Given the description of an element on the screen output the (x, y) to click on. 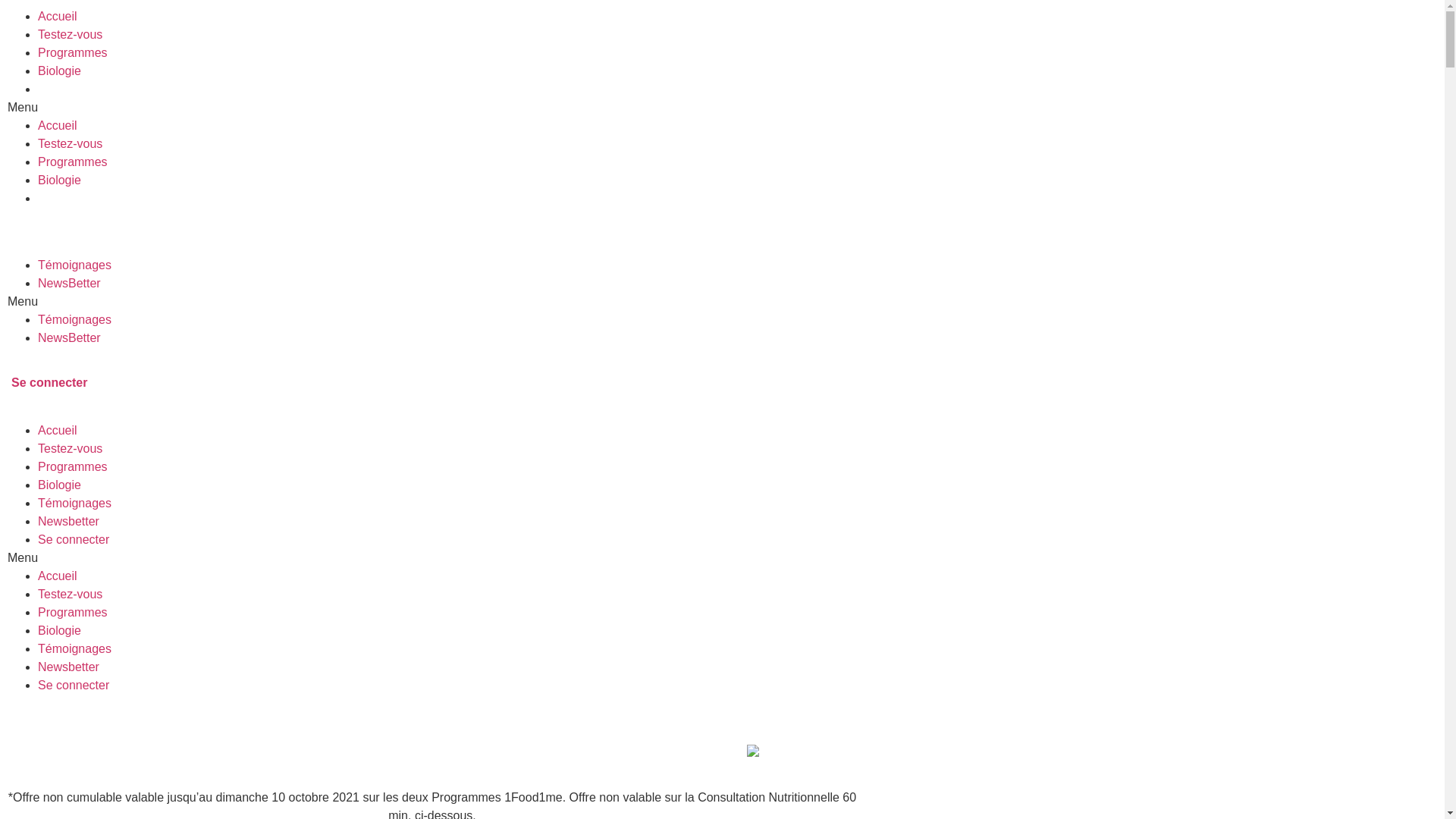
Newsbetter Element type: text (68, 520)
Accueil Element type: text (57, 125)
Biologie Element type: text (59, 484)
Testez-vous Element type: text (69, 34)
NewsBetter Element type: text (68, 282)
Programmes Element type: text (72, 52)
Accueil Element type: text (57, 575)
Biologie Element type: text (59, 179)
Testez-vous Element type: text (69, 448)
Testez-vous Element type: text (69, 143)
Programmes Element type: text (72, 611)
Se connecter Element type: text (73, 539)
Biologie Element type: text (59, 630)
Se connecter Element type: text (73, 684)
Testez-vous Element type: text (69, 593)
Biologie Element type: text (59, 70)
Newsbetter Element type: text (68, 666)
NewsBetter Element type: text (68, 337)
avec le code Blackfriday !   Element type: text (686, 751)
Accueil Element type: text (57, 429)
Se connecter Element type: text (49, 382)
Programmes Element type: text (72, 161)
Programmes Element type: text (72, 466)
Accueil Element type: text (57, 15)
